Given the description of an element on the screen output the (x, y) to click on. 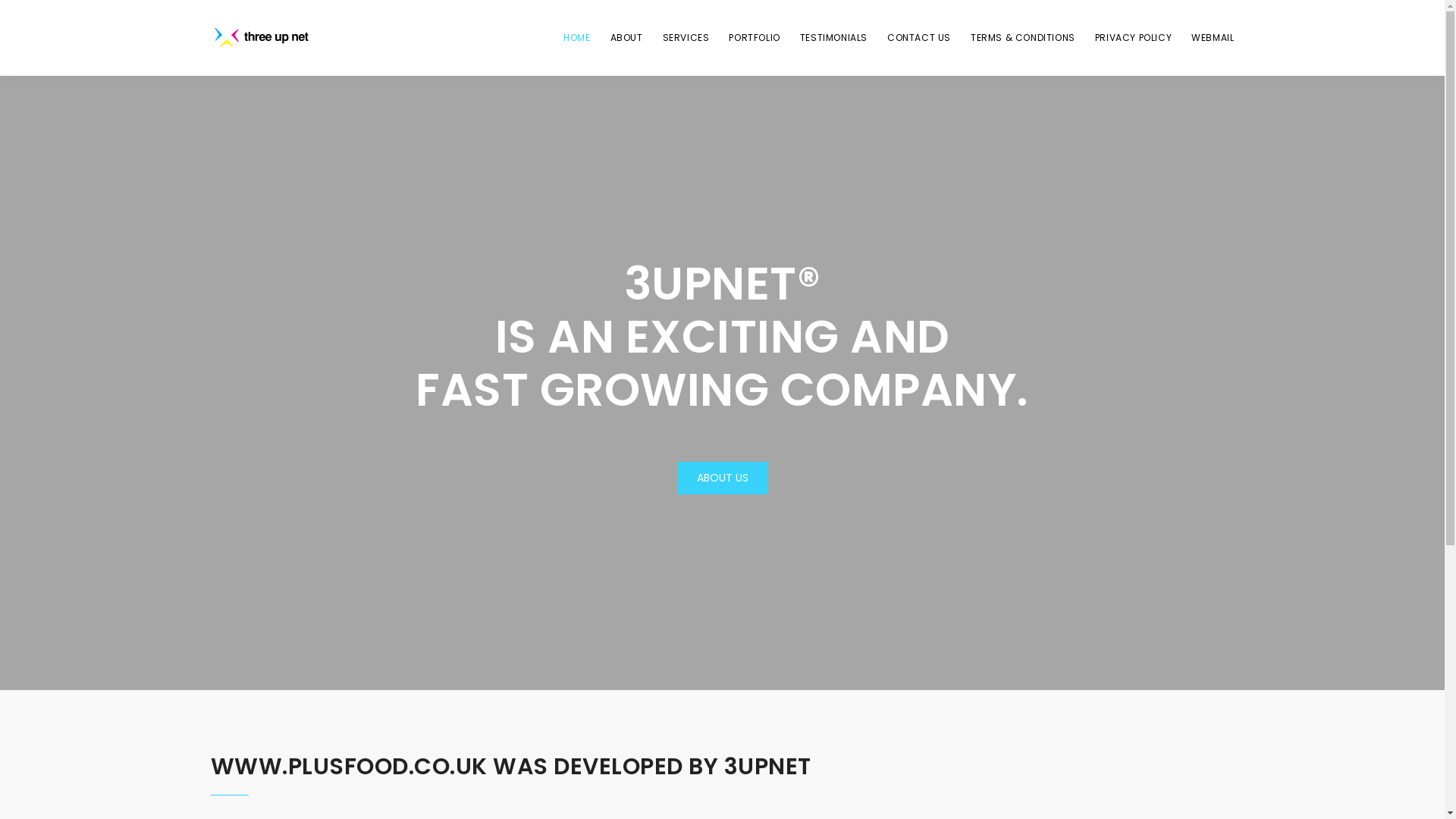
WEBMAIL Element type: text (1212, 37)
ABOUT Element type: text (626, 37)
CONTACT US Element type: text (918, 37)
PRIVACY POLICY Element type: text (1133, 37)
PORTFOLIO Element type: text (753, 37)
HOME Element type: text (576, 37)
SERVICES Element type: text (685, 37)
ABOUT US Element type: text (721, 477)
TESTIMONIALS Element type: text (833, 37)
TERMS & CONDITIONS Element type: text (1022, 37)
